Given the description of an element on the screen output the (x, y) to click on. 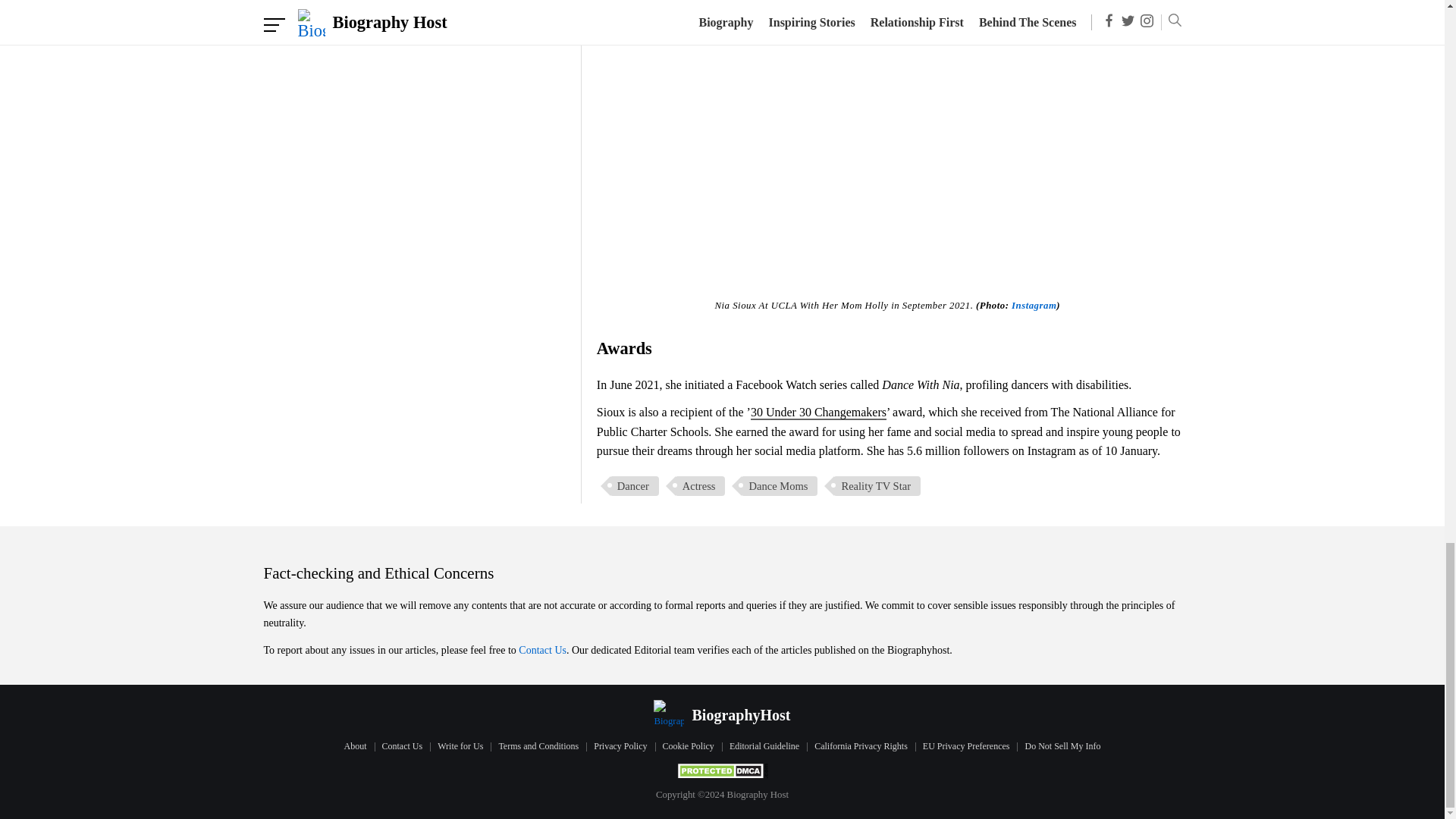
30 Under 30 Changemakers (818, 412)
Instagram (1034, 305)
